Given the description of an element on the screen output the (x, y) to click on. 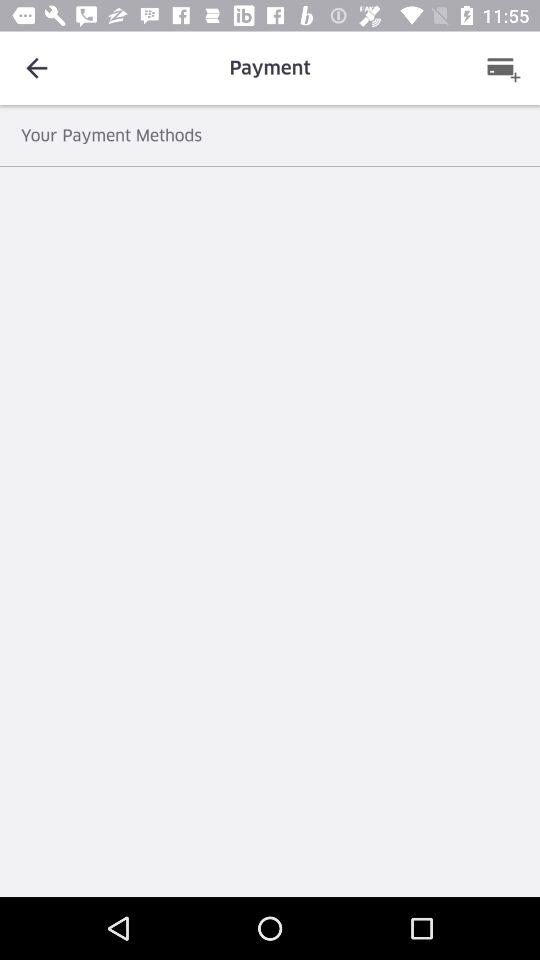
select item at the top right corner (503, 67)
